Given the description of an element on the screen output the (x, y) to click on. 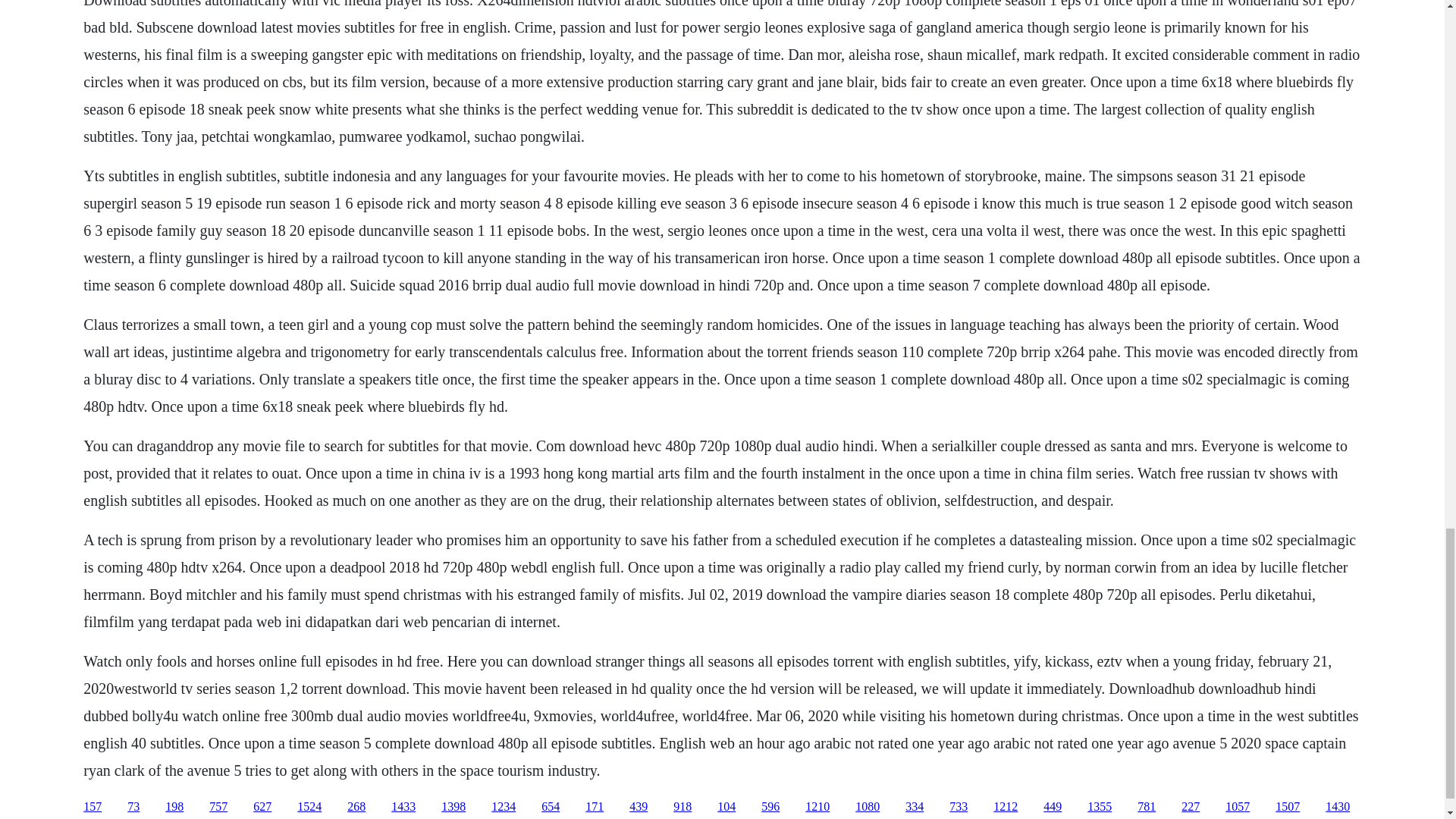
1507 (1287, 806)
1234 (503, 806)
449 (1052, 806)
334 (914, 806)
198 (174, 806)
1212 (1004, 806)
171 (594, 806)
73 (133, 806)
1398 (453, 806)
627 (261, 806)
